Given the description of an element on the screen output the (x, y) to click on. 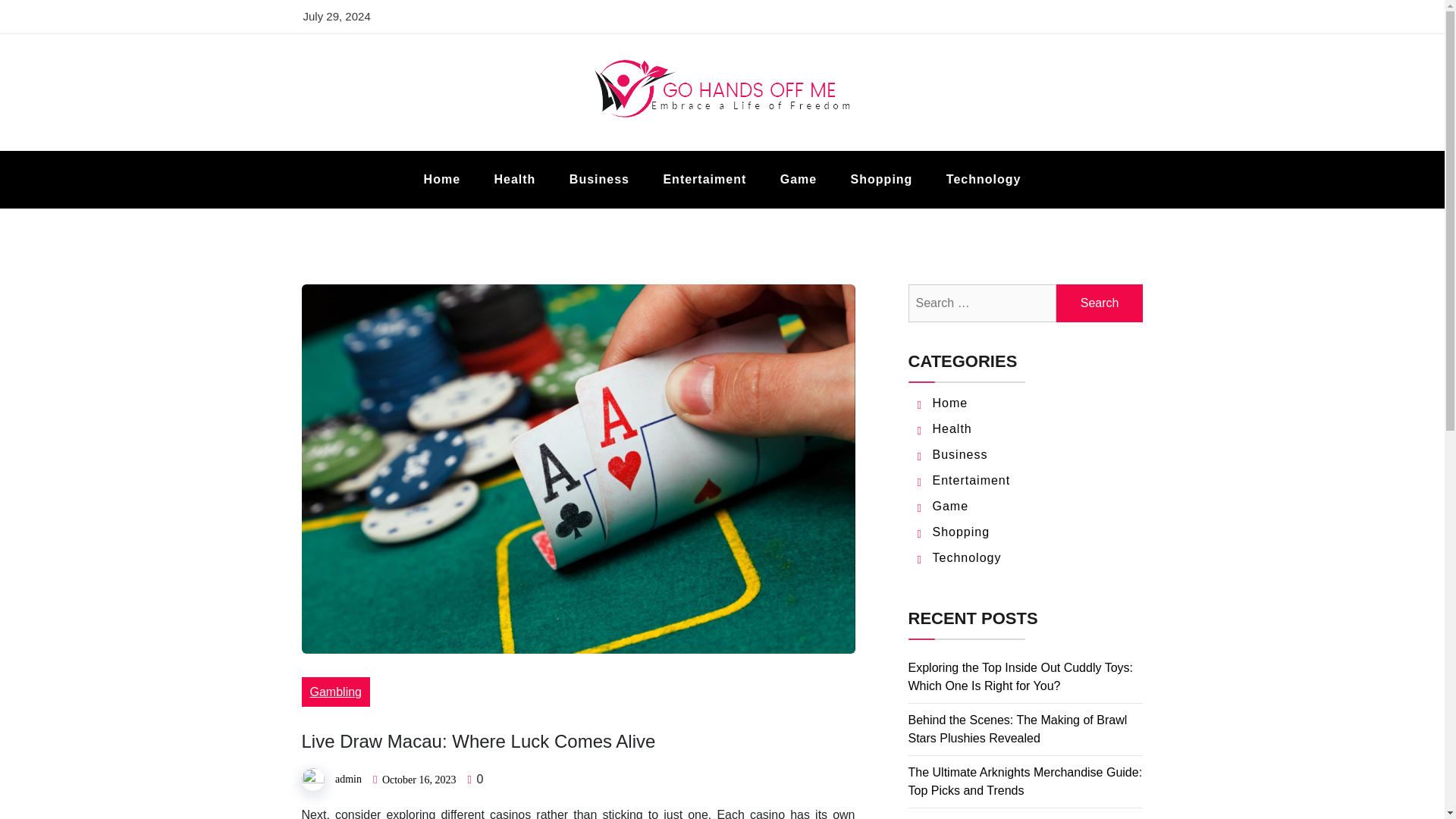
Entertaiment (971, 480)
admin (347, 778)
Game (798, 179)
Search (1099, 303)
Shopping (881, 179)
Go Hands Off Me (437, 149)
Go Hands Off Me (437, 149)
Business (599, 179)
Health (952, 428)
Business (960, 454)
Shopping (961, 531)
Home (442, 179)
